Given the description of an element on the screen output the (x, y) to click on. 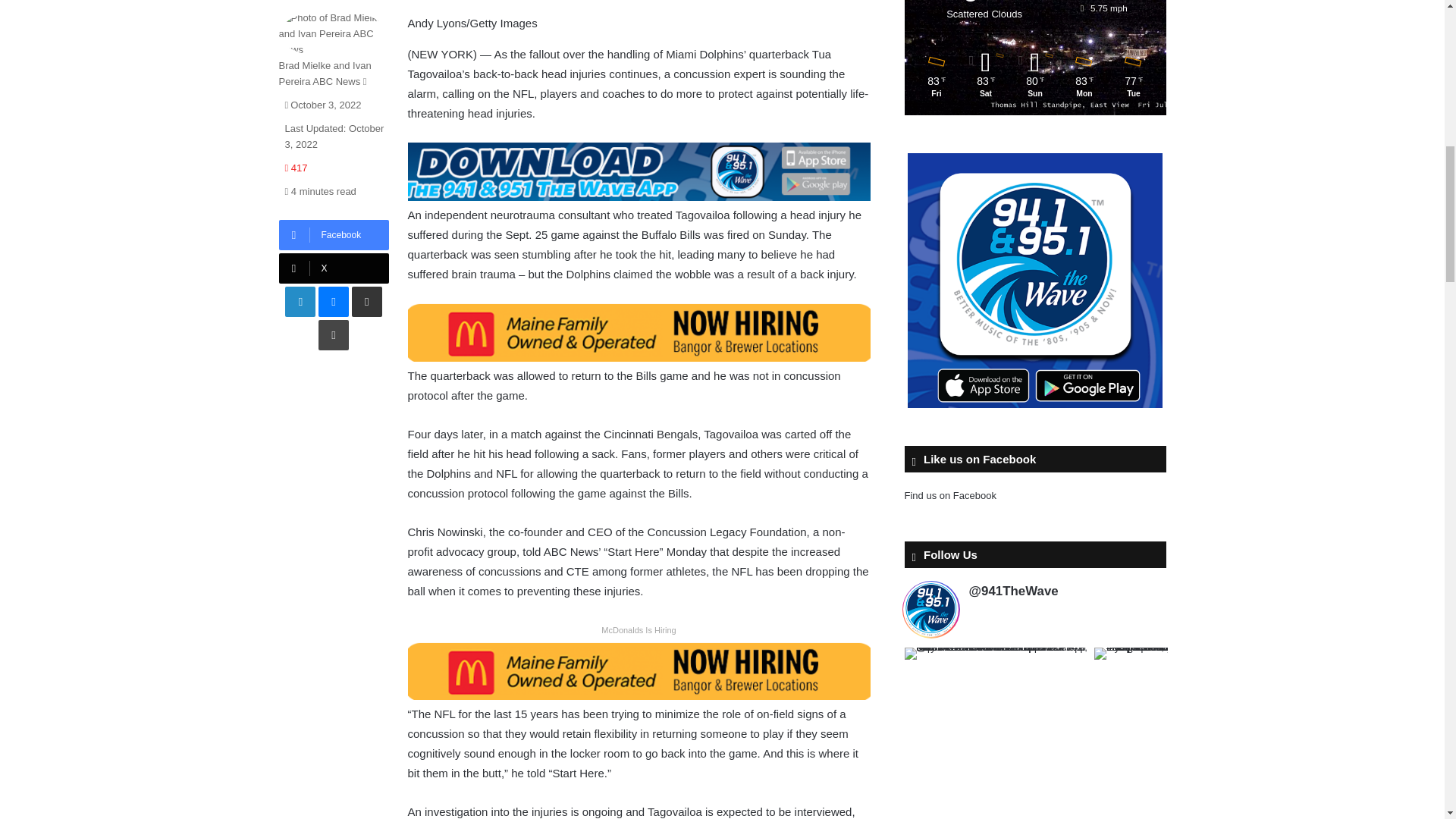
Brad Mielke and Ivan Pereira ABC News (325, 72)
Facebook (333, 235)
